Given the description of an element on the screen output the (x, y) to click on. 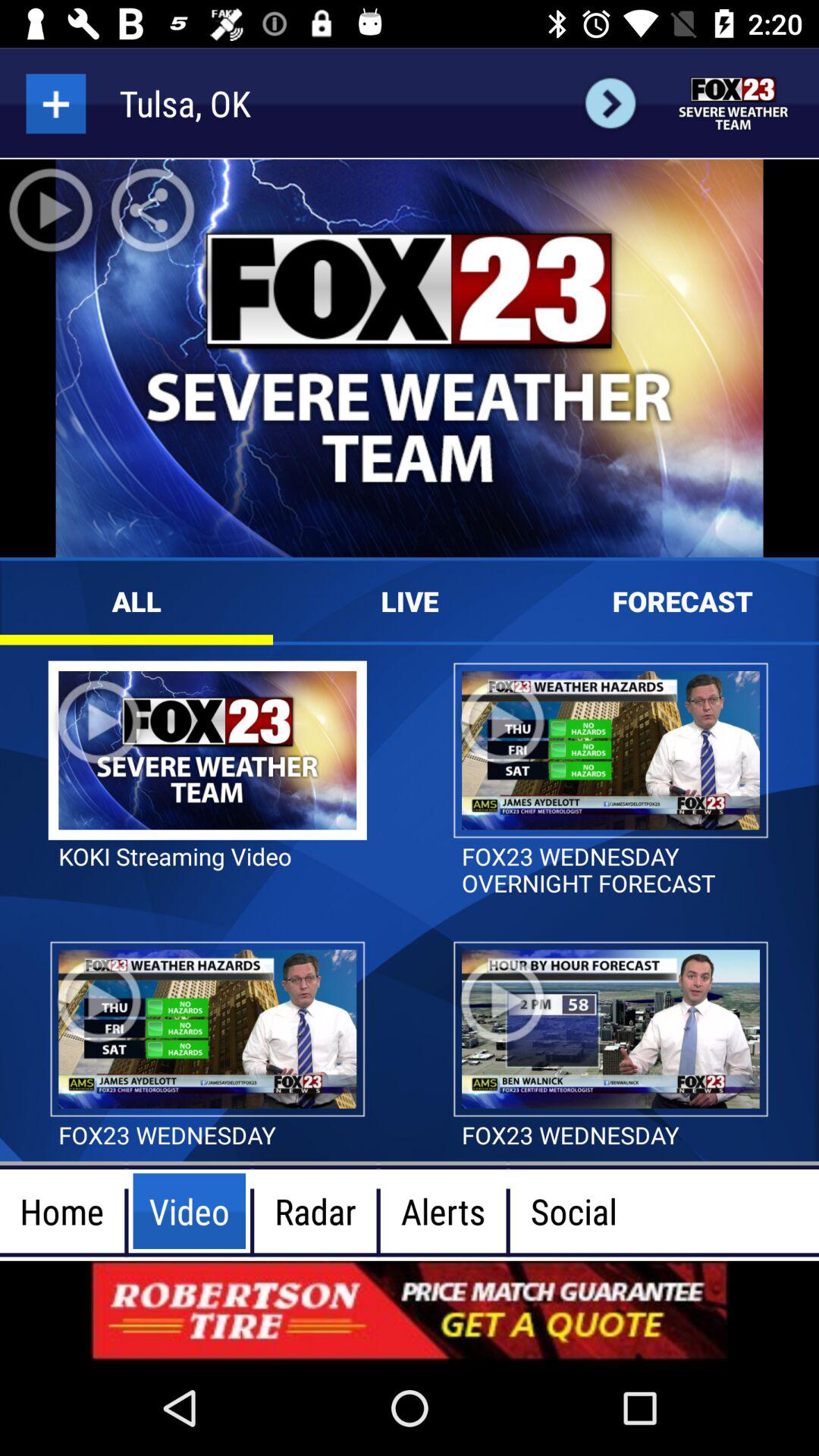
app logo (734, 103)
